Given the description of an element on the screen output the (x, y) to click on. 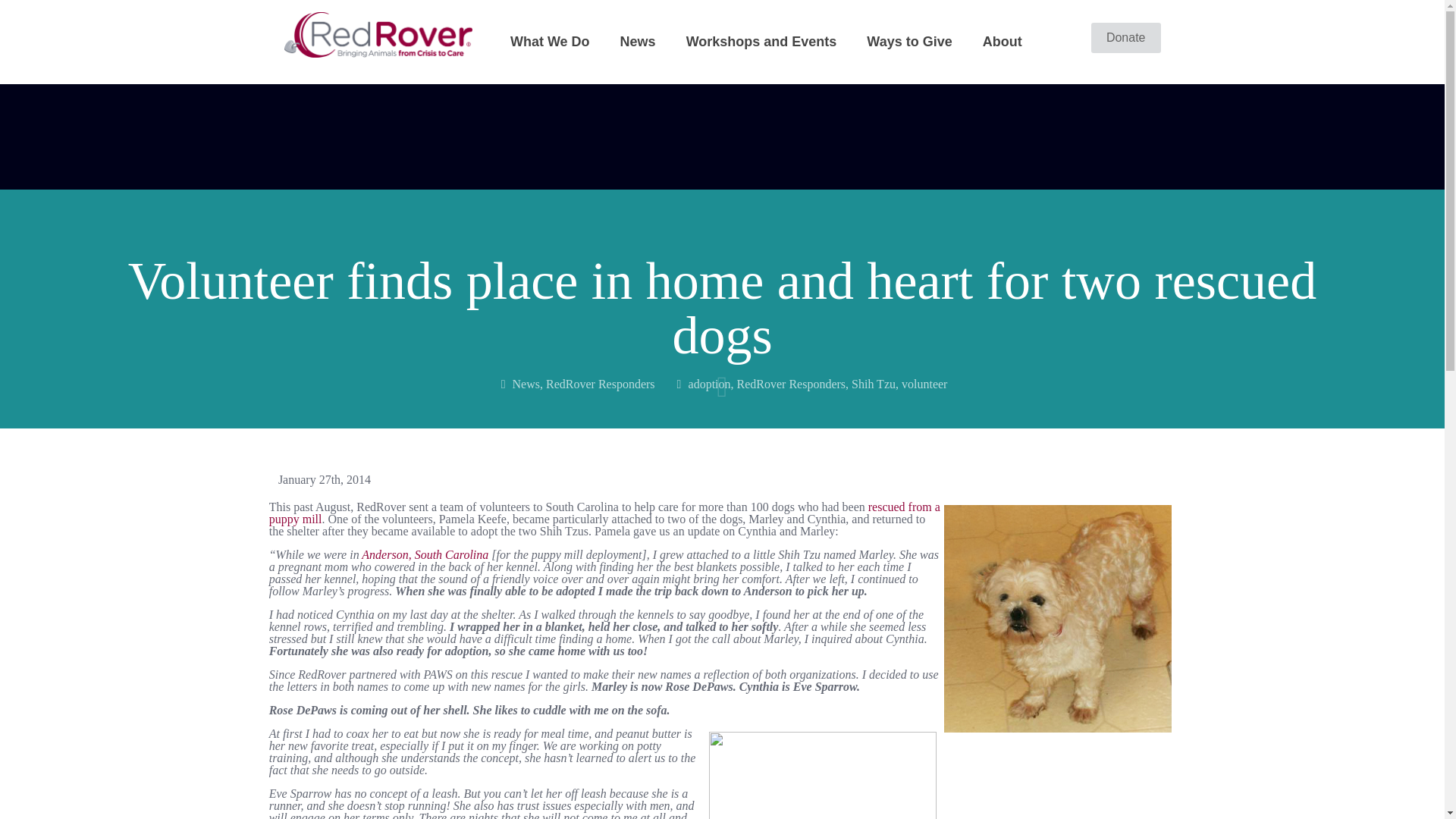
Workshops and Events (761, 41)
RedRover (377, 33)
News (638, 41)
About (1002, 41)
Ways to Give (908, 41)
What We Do (550, 41)
